Given the description of an element on the screen output the (x, y) to click on. 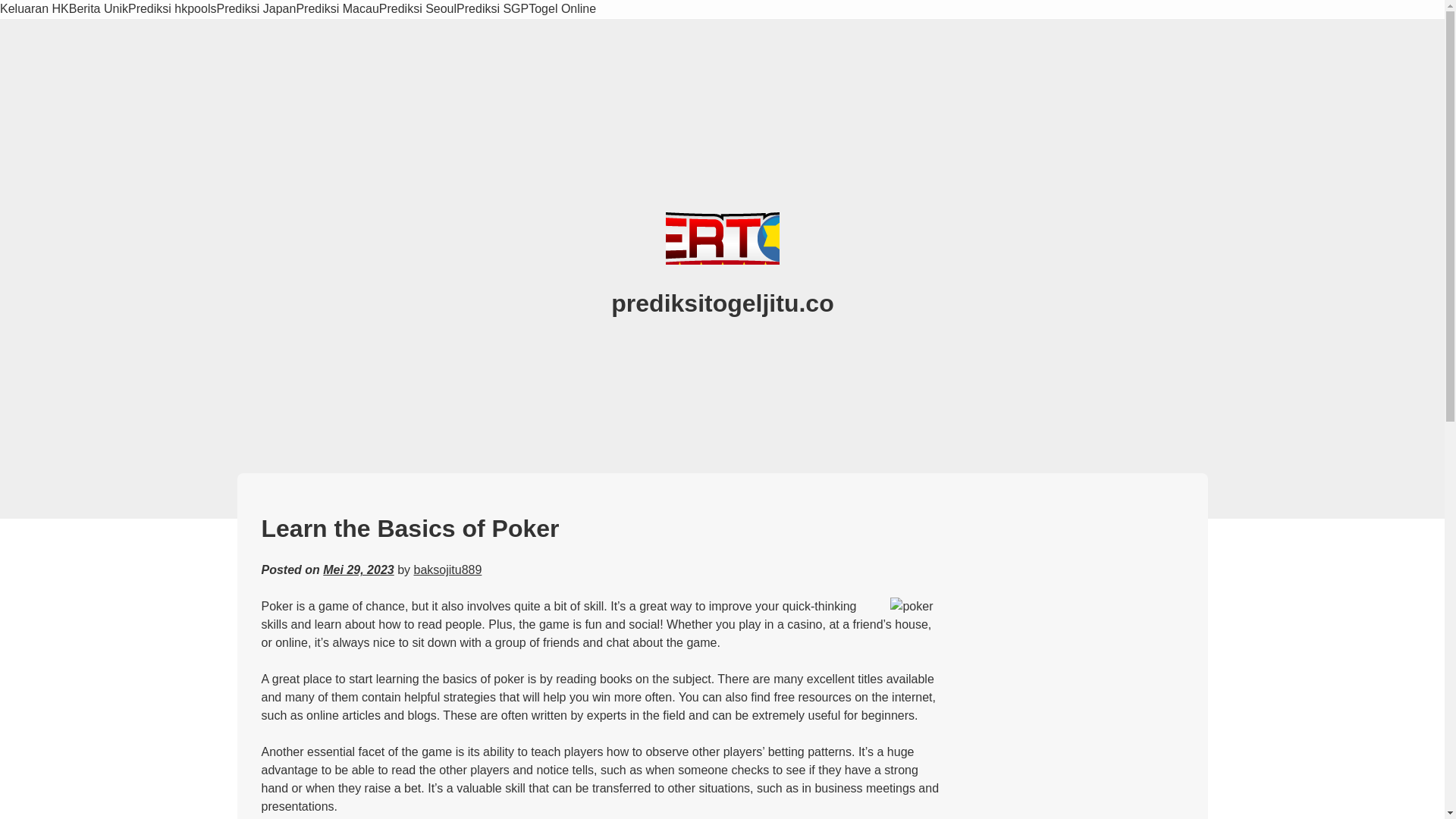
Prediksi Japan (255, 9)
Prediksi SGP (492, 9)
Keluaran HK (34, 9)
baksojitu889 (447, 569)
Prediksi hkpools (172, 9)
Prediksi Seoul (417, 9)
Berita Unik (98, 9)
Mei 29, 2023 (358, 569)
Togel Online (561, 9)
Prediksi Macau (336, 9)
